Given the description of an element on the screen output the (x, y) to click on. 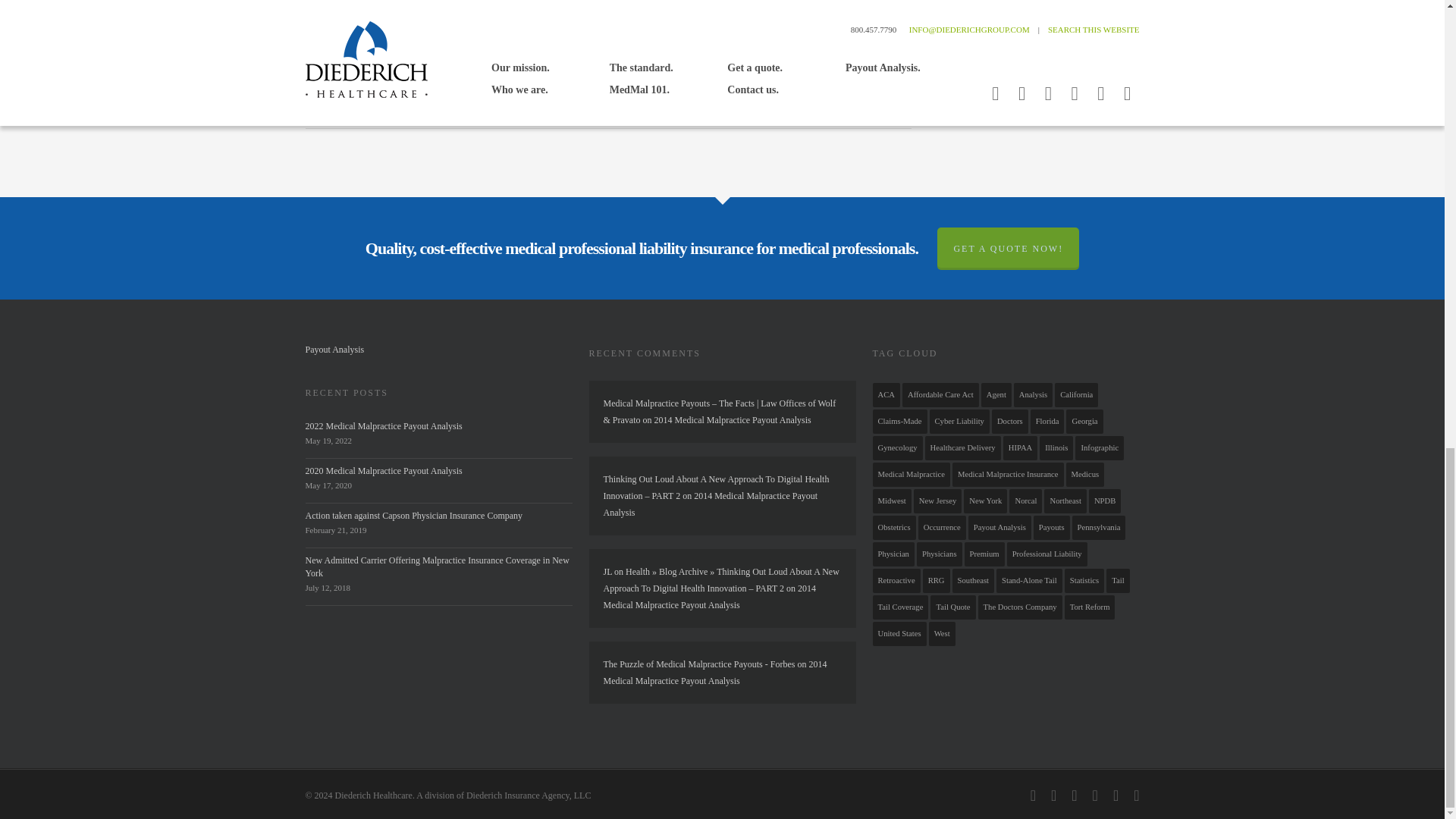
Affordable Care Act (449, 62)
Affordable Care Organization (543, 62)
ACO (395, 62)
Action taken against Capson Physician Insurance Company (413, 515)
ACA (366, 62)
2020 Medical Malpractice Payout Analysis (382, 470)
2022 Medical Malpractice Payout Analysis (382, 425)
Healthcare Delivery (637, 62)
